Given the description of an element on the screen output the (x, y) to click on. 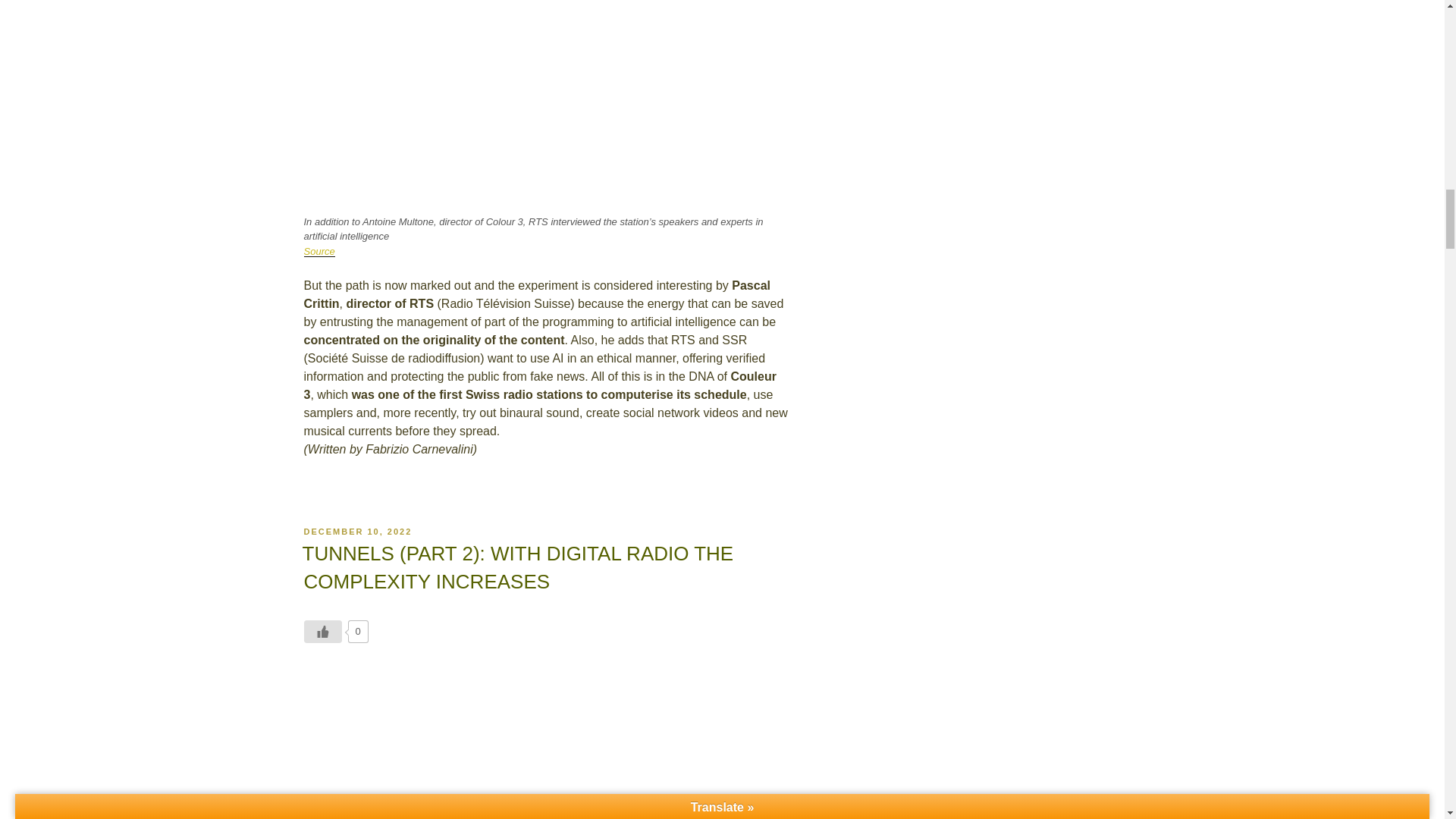
DECEMBER 10, 2022 (357, 531)
Source (318, 251)
